Given the description of an element on the screen output the (x, y) to click on. 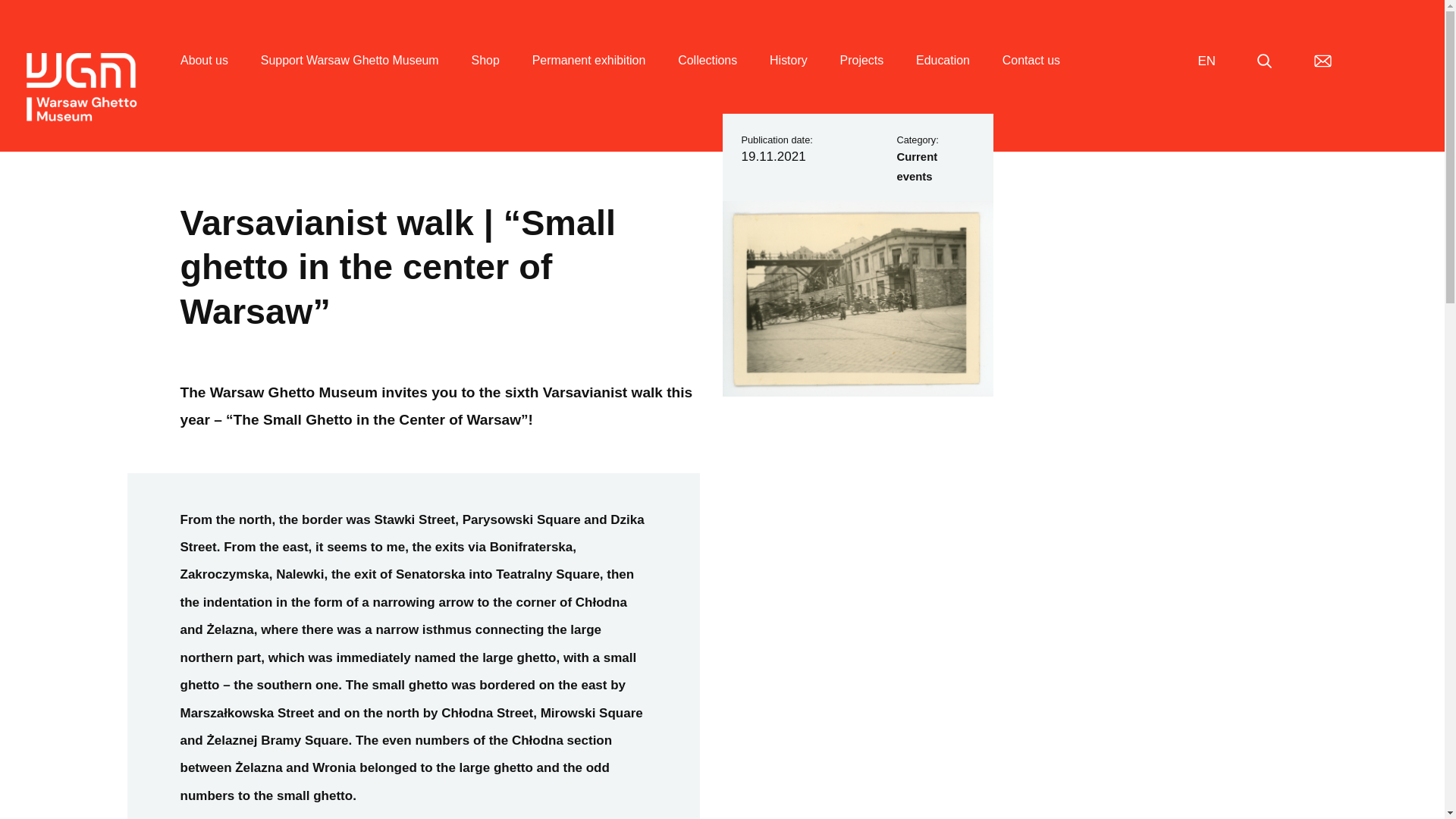
e-mail (1323, 60)
Education (942, 78)
About us (204, 78)
Permanent exhibition (589, 78)
Current events (916, 166)
Contact us (1031, 78)
EN (1205, 60)
Collections (707, 78)
Support Warsaw Ghetto Museum (349, 78)
